Given the description of an element on the screen output the (x, y) to click on. 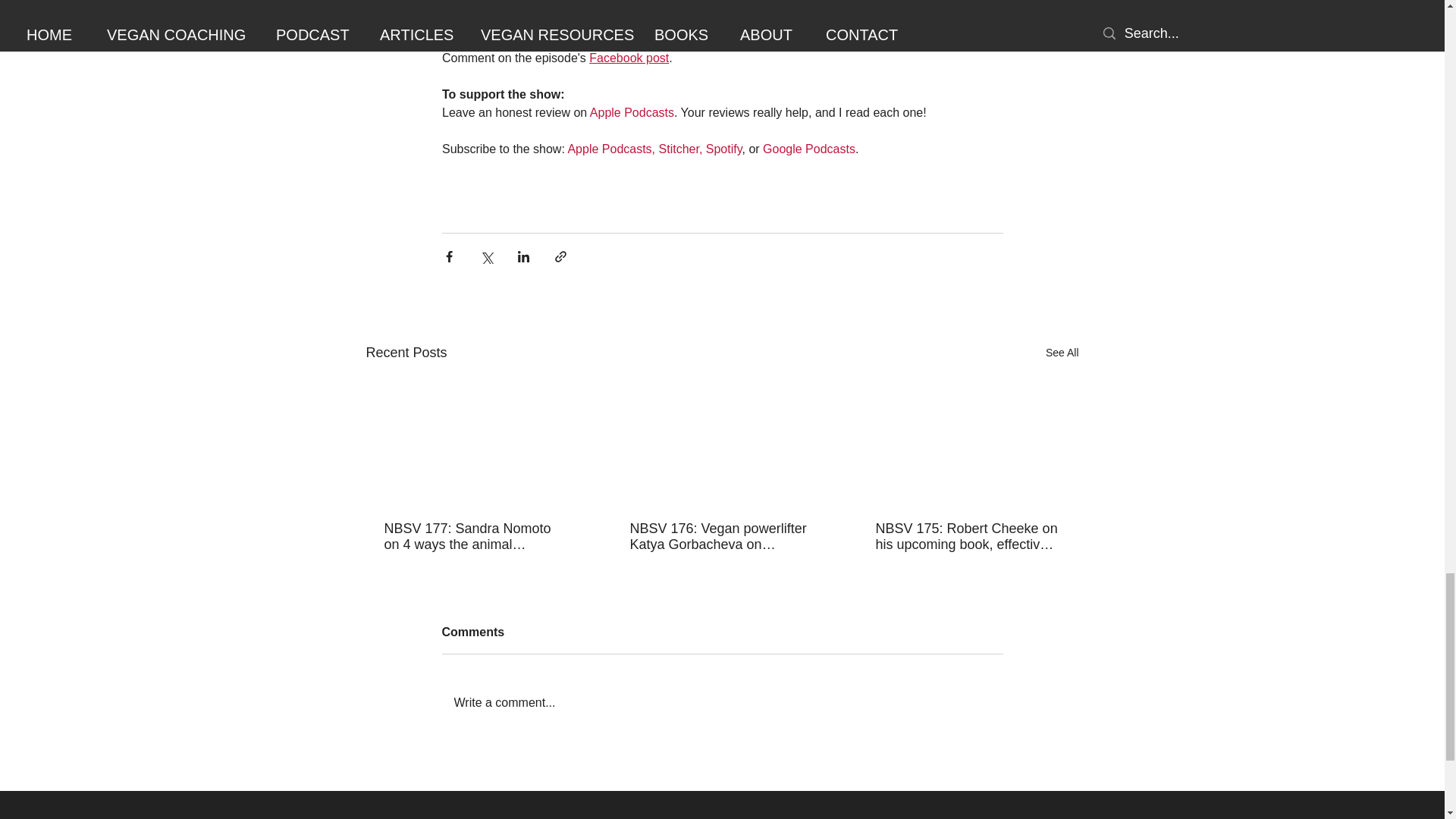
Facebook post (628, 57)
Stitcher, (679, 148)
See All (1061, 352)
Spotify (722, 148)
Apple Podcasts,  (612, 148)
Google Podcasts (809, 148)
Apple Podcasts (630, 112)
